Given the description of an element on the screen output the (x, y) to click on. 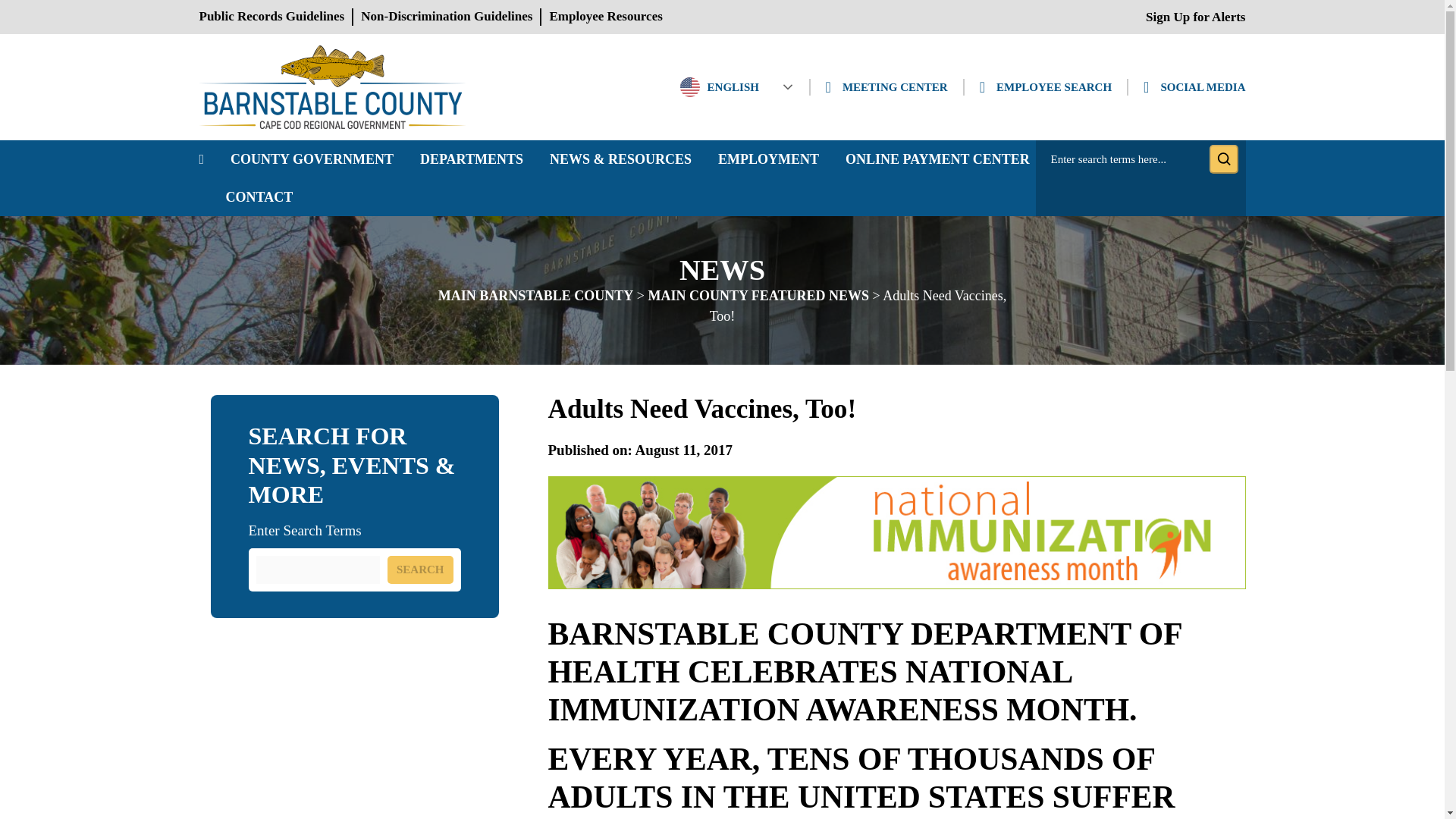
Search (1222, 158)
ENGLISH (736, 87)
COUNTY GOVERNMENT (311, 159)
Sign Up for Alerts (1194, 16)
MEETING CENTER (886, 87)
Public Records Guidelines (270, 16)
EMPLOYEE SEARCH (1045, 87)
Non-Discrimination Guidelines (446, 16)
SOCIAL MEDIA (1193, 87)
Employee Resources (605, 16)
